Given the description of an element on the screen output the (x, y) to click on. 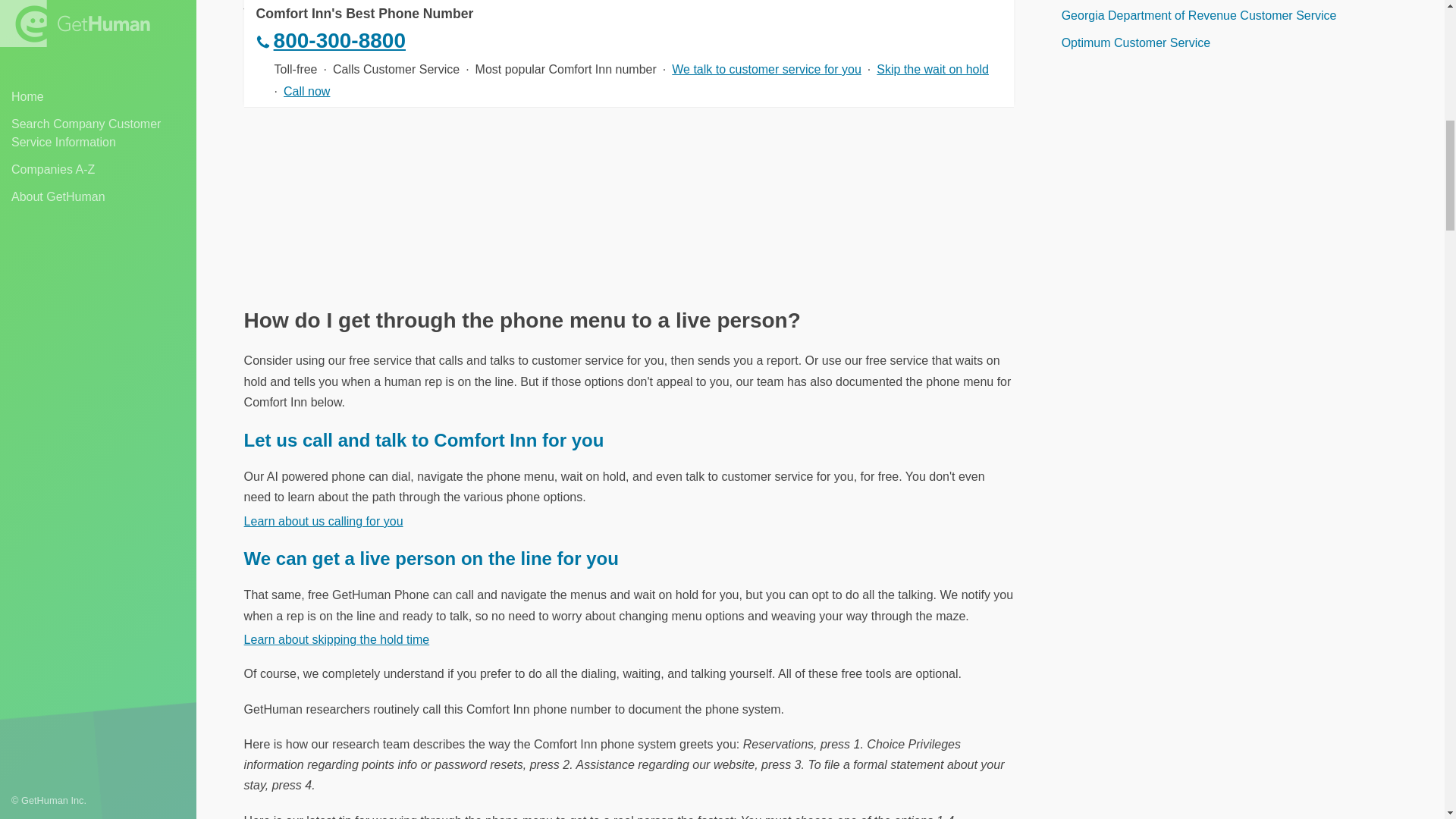
Let us call and talk to Comfort Inn for you (424, 439)
We can get a live person on the line for you (431, 557)
More details (277, 34)
Learn about skipping the hold time (336, 639)
Learn about us calling for you (323, 521)
